Given the description of an element on the screen output the (x, y) to click on. 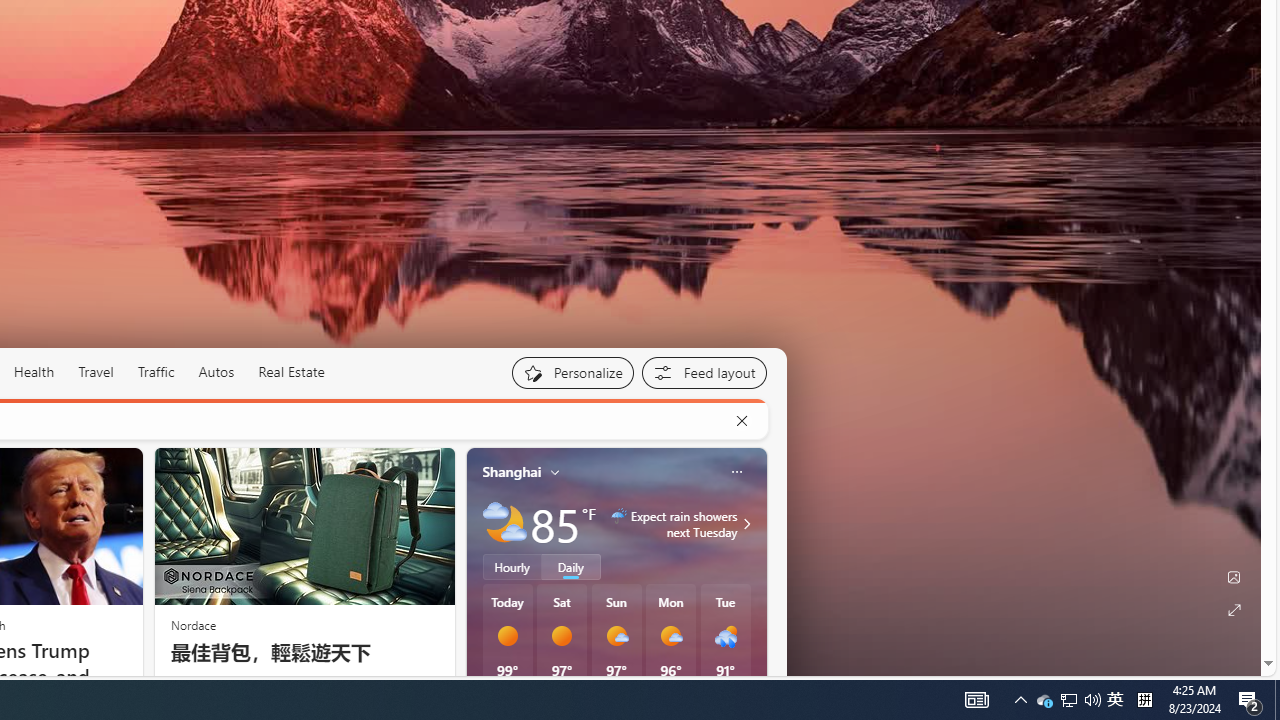
Daily (571, 566)
Feed settings (703, 372)
Cancel (741, 421)
Partly cloudy (504, 523)
Personalize your feed" (571, 372)
Autos (216, 372)
Autos (215, 371)
Expand background (1233, 610)
Sunny (561, 636)
